Given the description of an element on the screen output the (x, y) to click on. 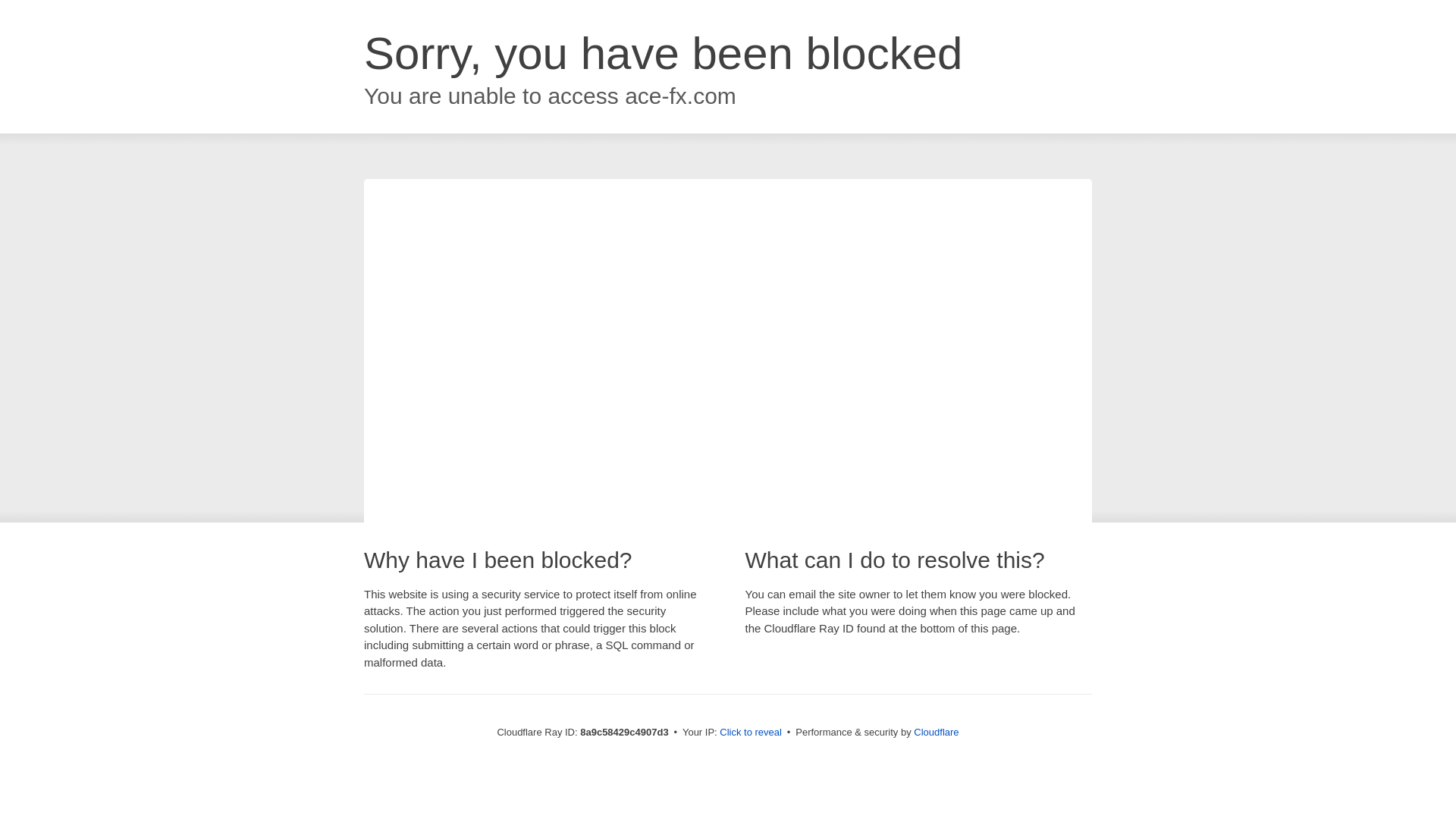
Click to reveal (750, 732)
Cloudflare (936, 731)
